Given the description of an element on the screen output the (x, y) to click on. 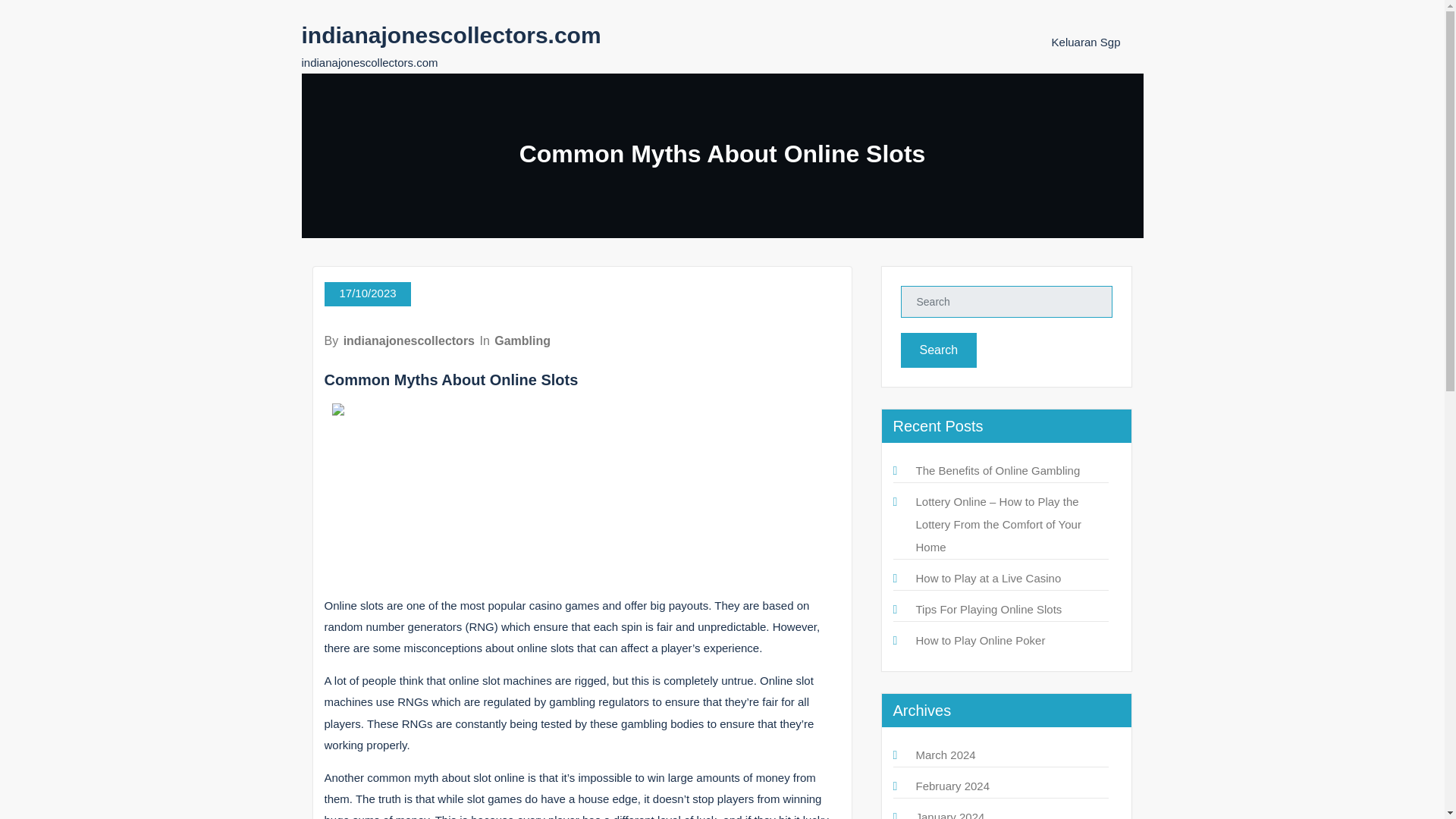
indianajonescollectors.com (451, 34)
Search (938, 349)
February 2024 (952, 785)
How to Play at a Live Casino (988, 577)
January 2024 (950, 814)
Gambling (522, 340)
March 2024 (945, 754)
The Benefits of Online Gambling (997, 470)
Keluaran Sgp (1086, 41)
indianajonescollectors (409, 340)
